Given the description of an element on the screen output the (x, y) to click on. 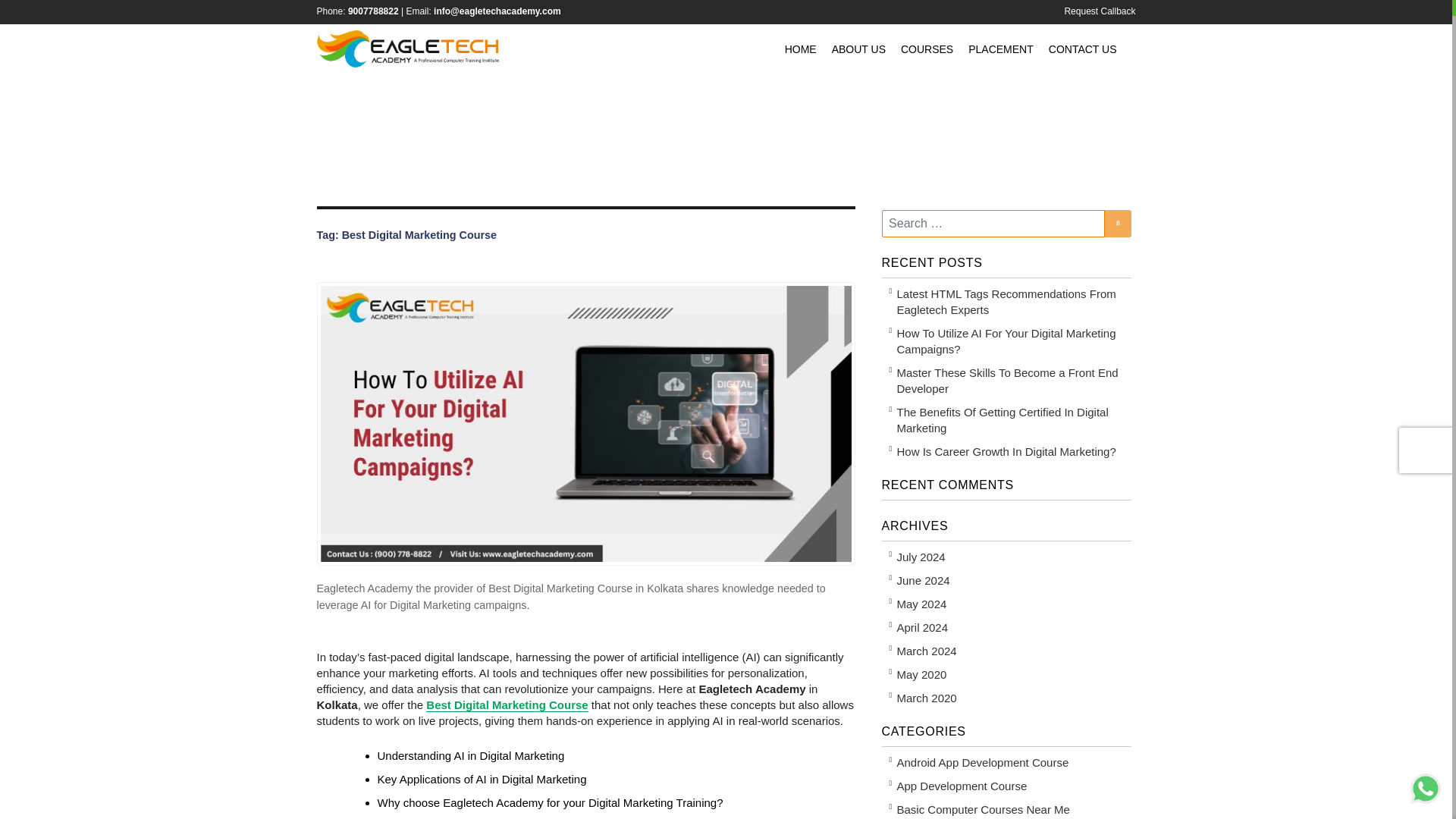
9007788822 (372, 10)
COURSES (926, 49)
Best Digital Marketing Course (507, 704)
ABOUT US (858, 49)
HOME (800, 49)
Request Callback (1099, 12)
CONTACT US (1082, 49)
Search for: (992, 223)
PLACEMENT (1000, 49)
